Given the description of an element on the screen output the (x, y) to click on. 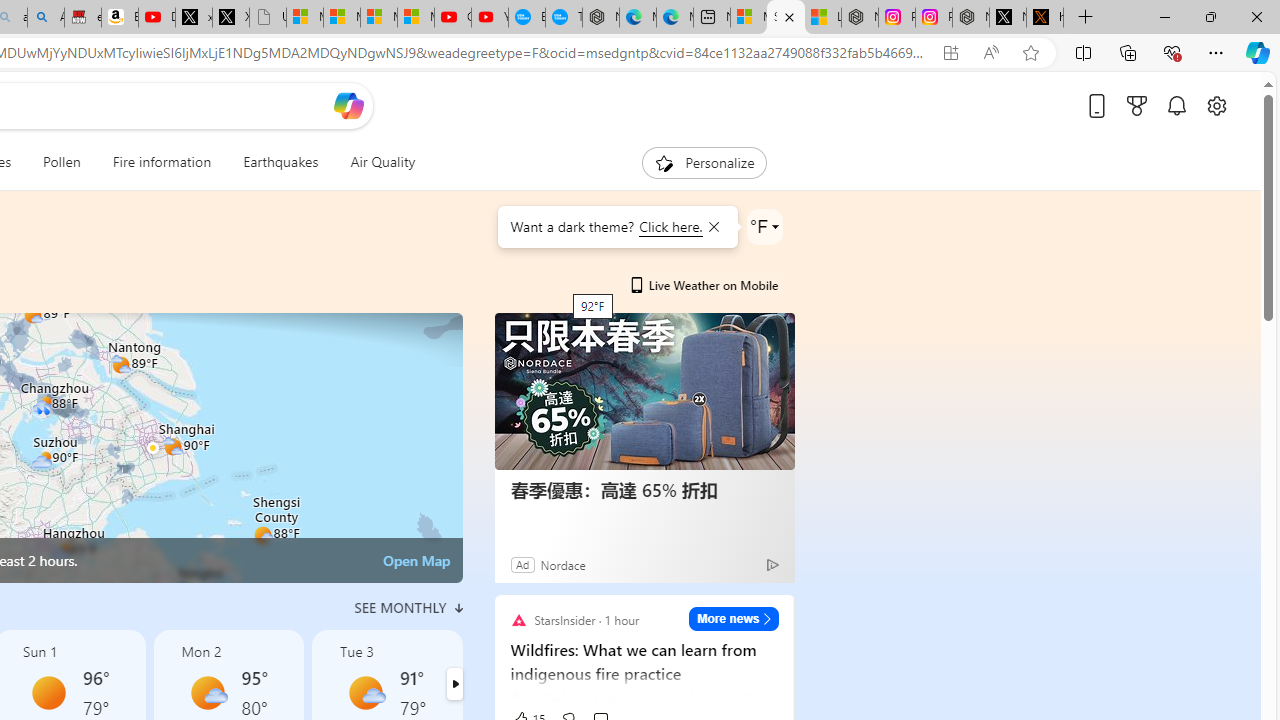
Untitled (267, 17)
Switch right (454, 683)
Pollen (61, 162)
